Given the description of an element on the screen output the (x, y) to click on. 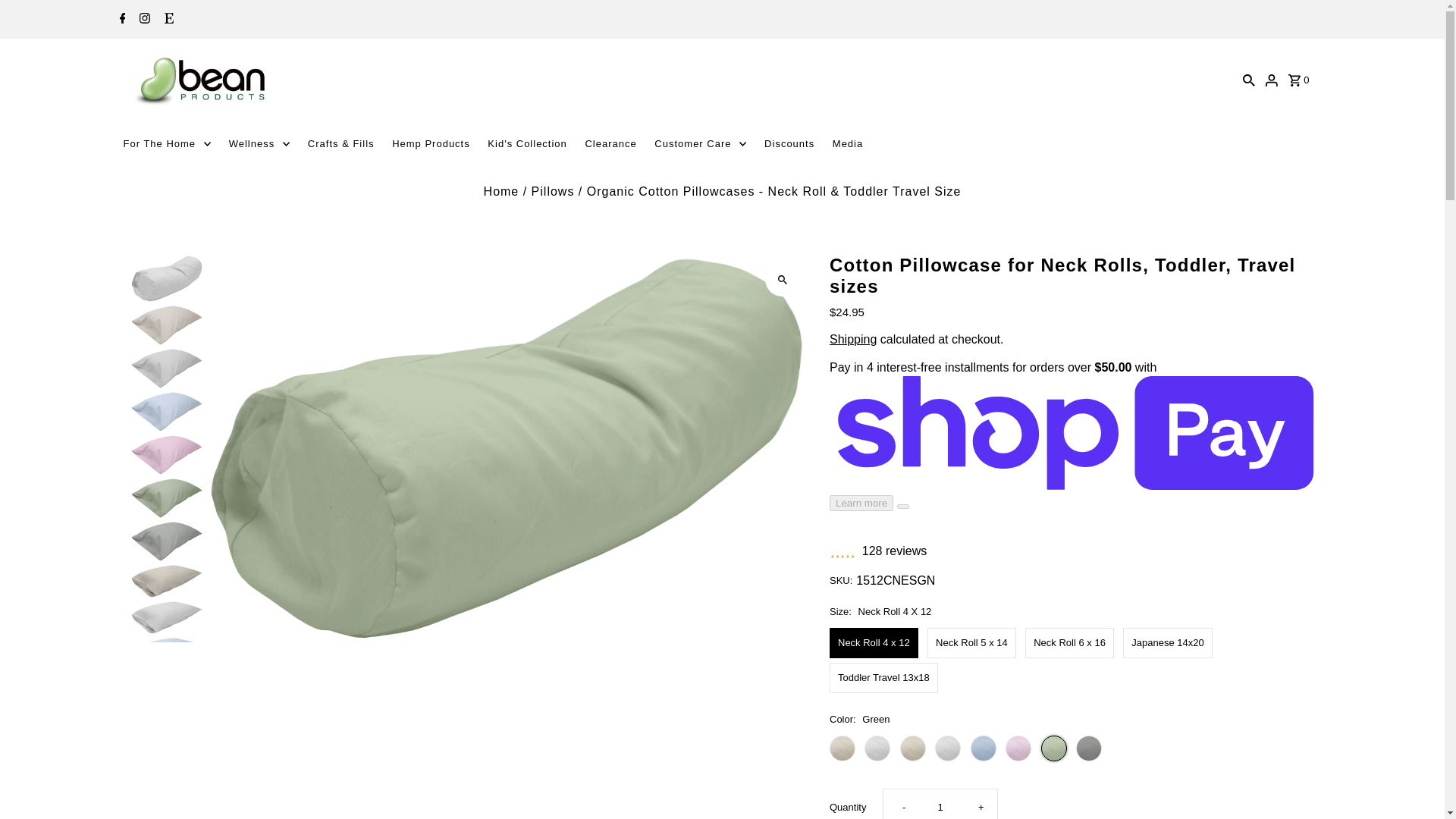
For The Home (166, 144)
Wellness (259, 144)
Home (501, 191)
1 (940, 804)
Pillows (553, 191)
